Given the description of an element on the screen output the (x, y) to click on. 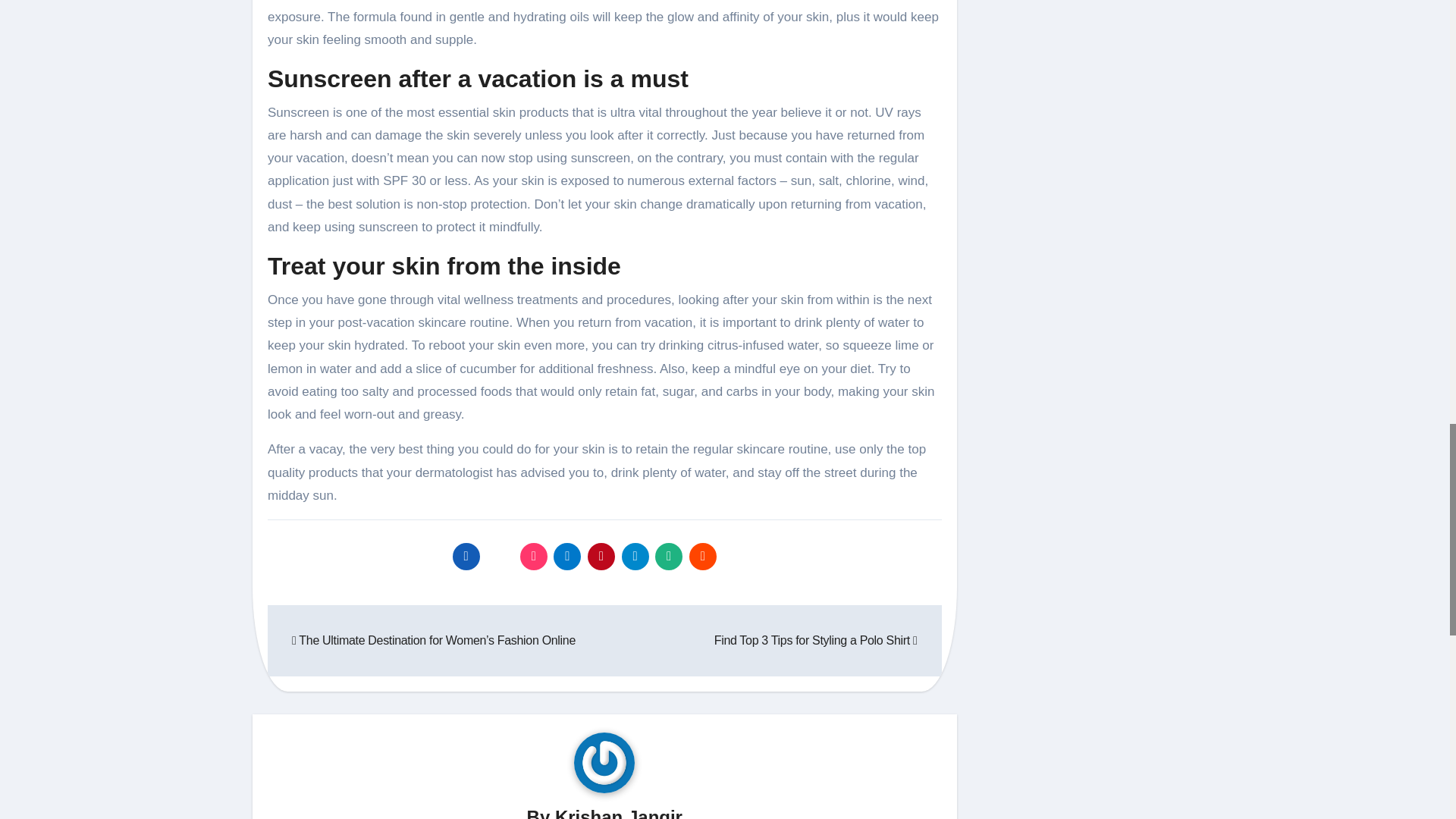
Find Top 3 Tips for Styling a Polo Shirt (815, 640)
Krishan Jangir (618, 812)
